Given the description of an element on the screen output the (x, y) to click on. 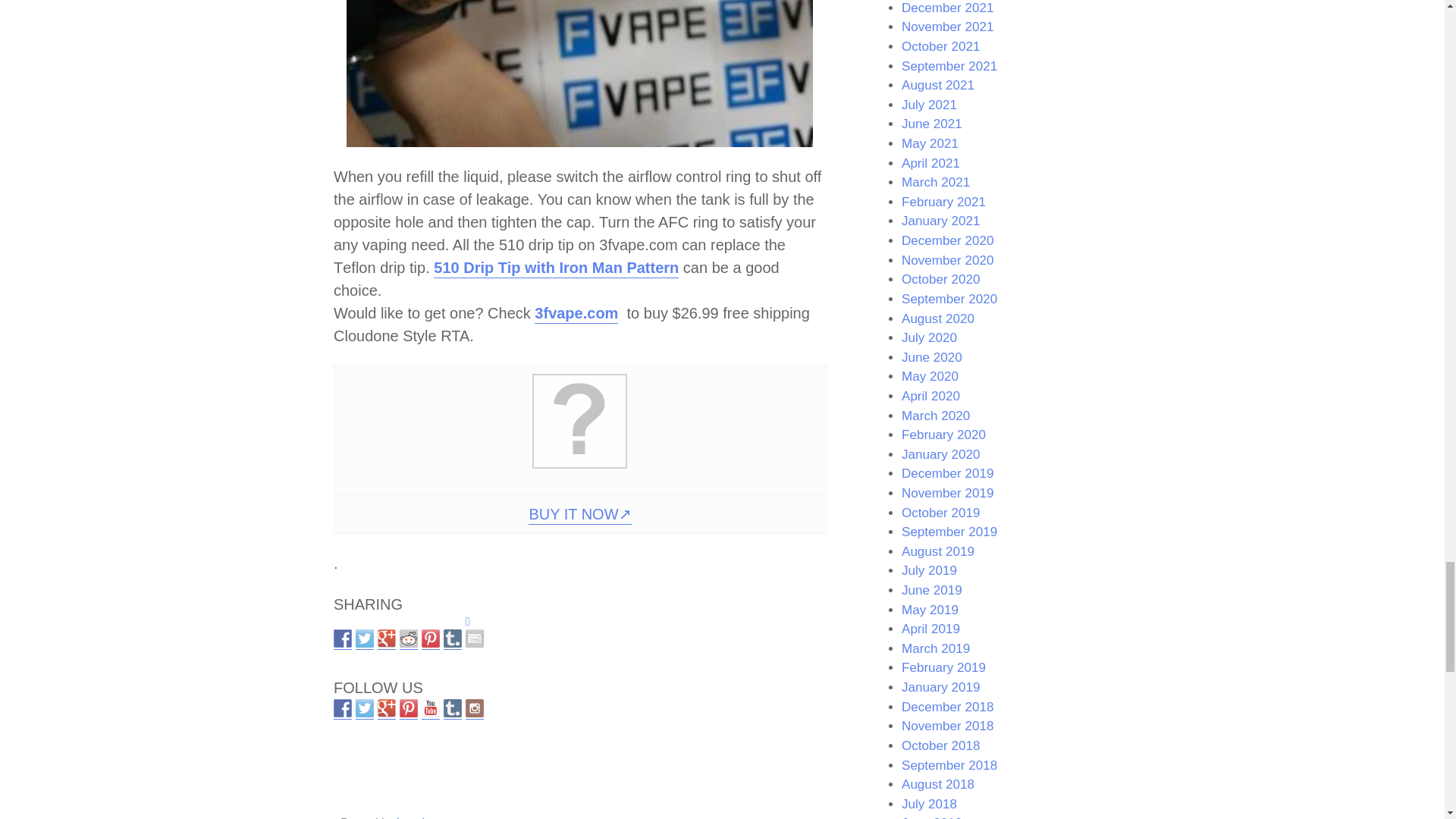
Share on Twitter (364, 639)
3fvape.com (575, 313)
Atomizer (417, 817)
Share on Reddit (407, 639)
Pin it with Pinterest (430, 639)
Pin it with Pinterest (430, 638)
Share on Twitter (364, 638)
Share on Reddit (407, 638)
510 Drip Tip with Iron Man Pattern (555, 268)
Share on Facebook (342, 638)
